Given the description of an element on the screen output the (x, y) to click on. 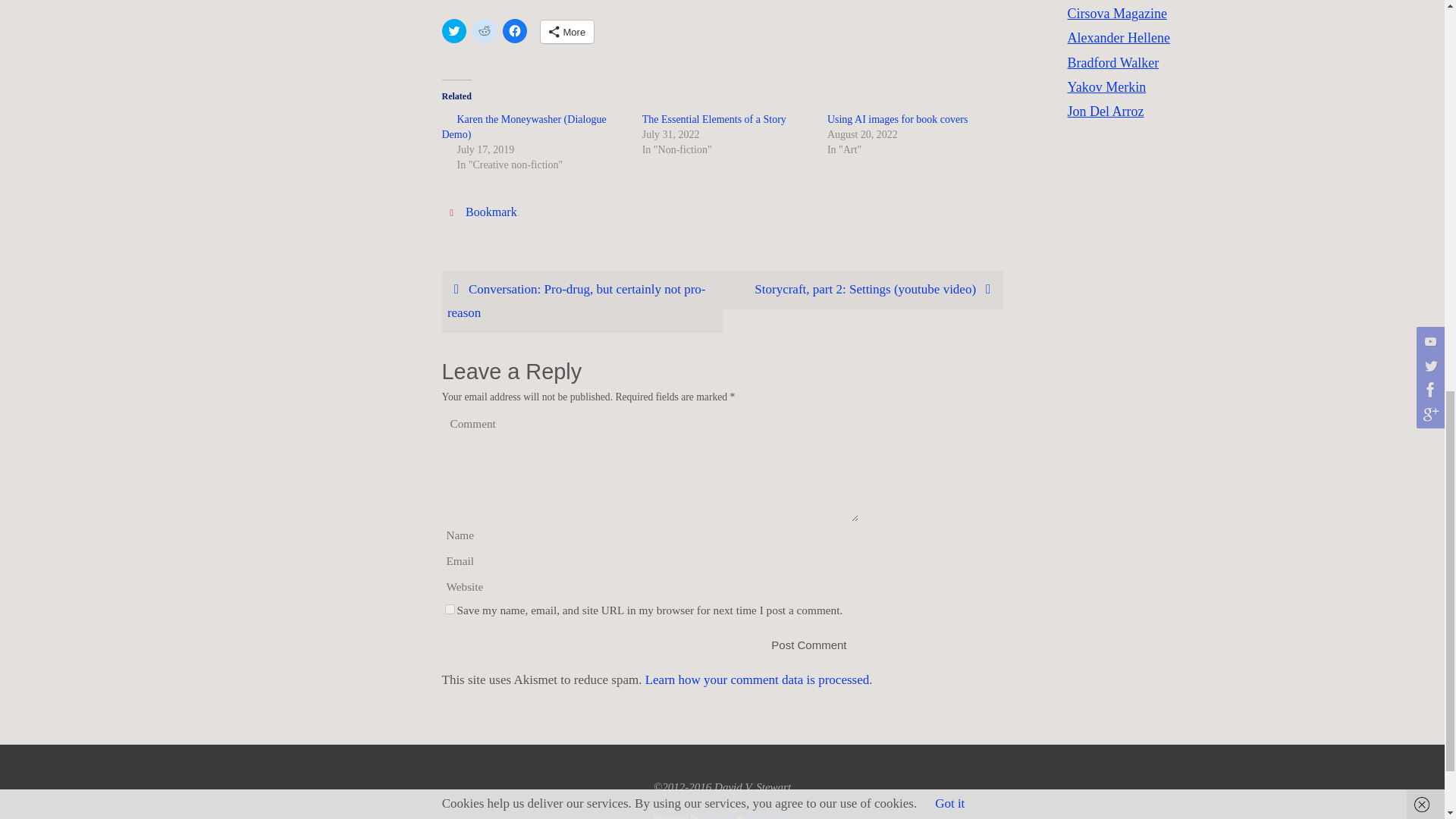
Using AI images for book covers (897, 119)
Post Comment (808, 644)
More (567, 31)
yes (449, 609)
Conversation: Pro-drug, but certainly not pro-reason (581, 301)
Click to share on Twitter (453, 30)
Bookmark (490, 212)
The Essential Elements of a Story (714, 119)
